Given the description of an element on the screen output the (x, y) to click on. 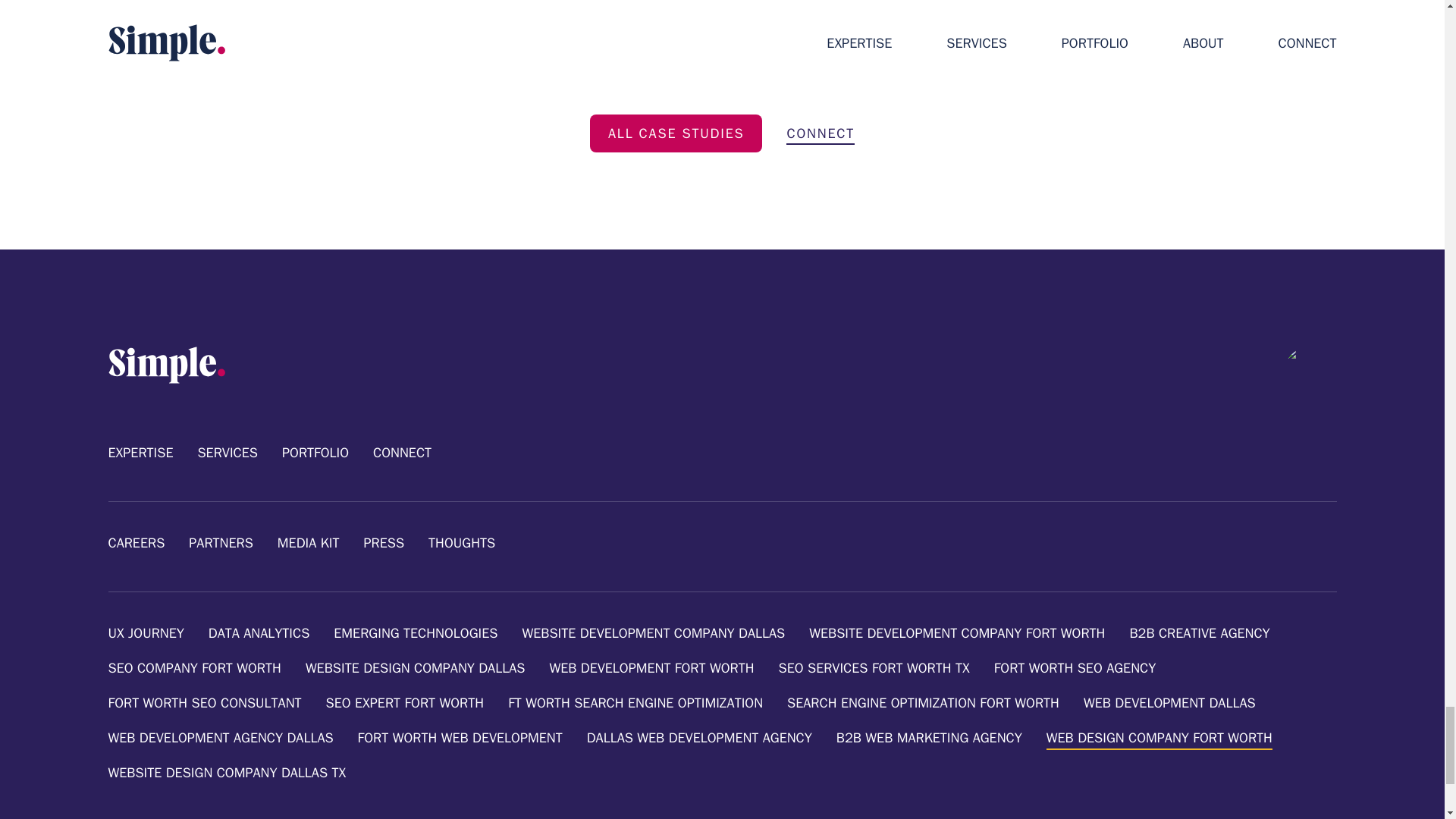
EXPERTISE (140, 453)
CONNECT (820, 129)
READ MORE (358, 16)
ALL CASE STUDIES (675, 133)
